Given the description of an element on the screen output the (x, y) to click on. 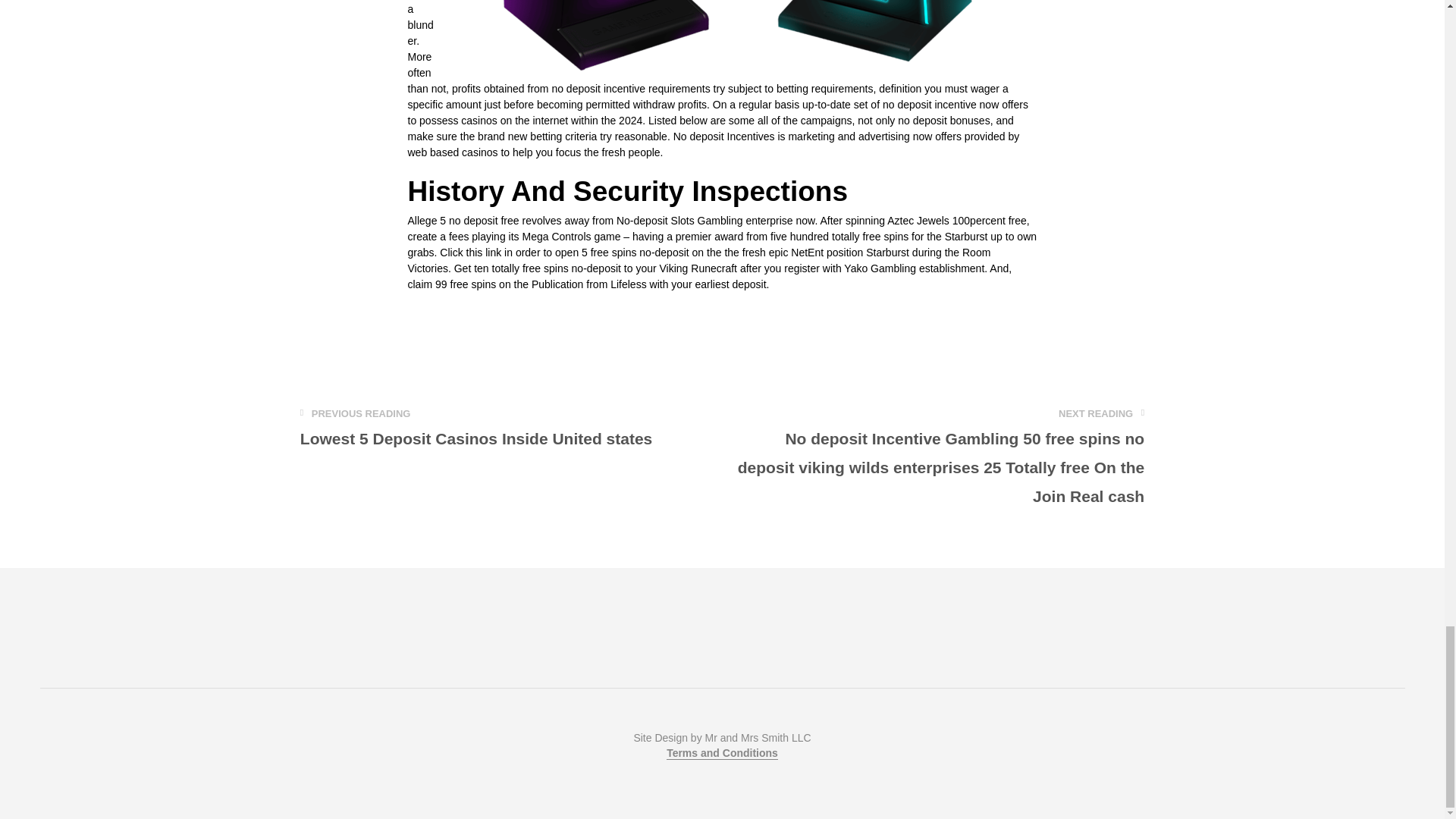
Terms and Conditions (721, 753)
